Given the description of an element on the screen output the (x, y) to click on. 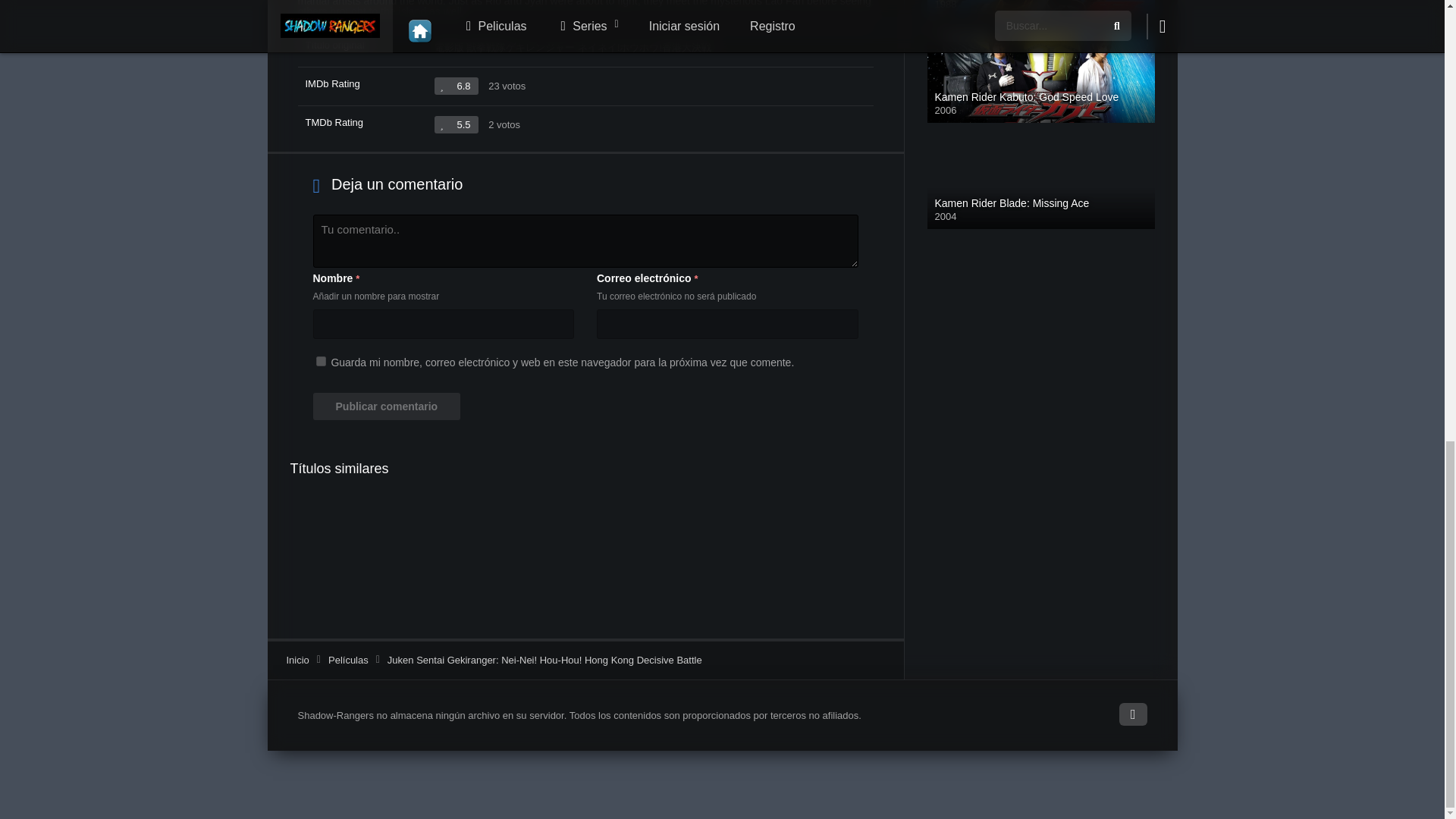
yes (319, 361)
Requerido (357, 278)
Requerido (695, 278)
Publicar comentario (386, 406)
